Given the description of an element on the screen output the (x, y) to click on. 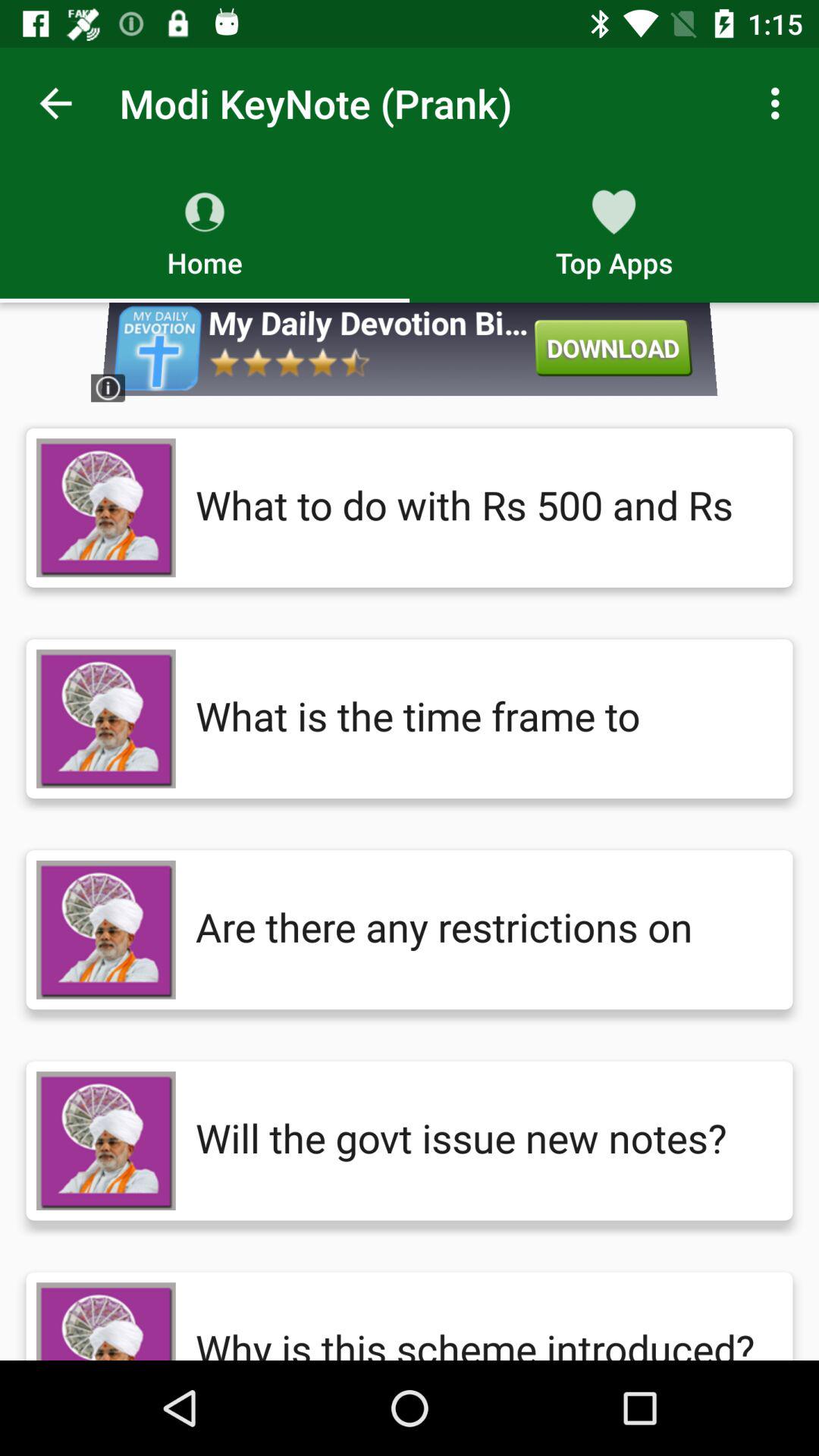
flip until the why is this (478, 1321)
